Given the description of an element on the screen output the (x, y) to click on. 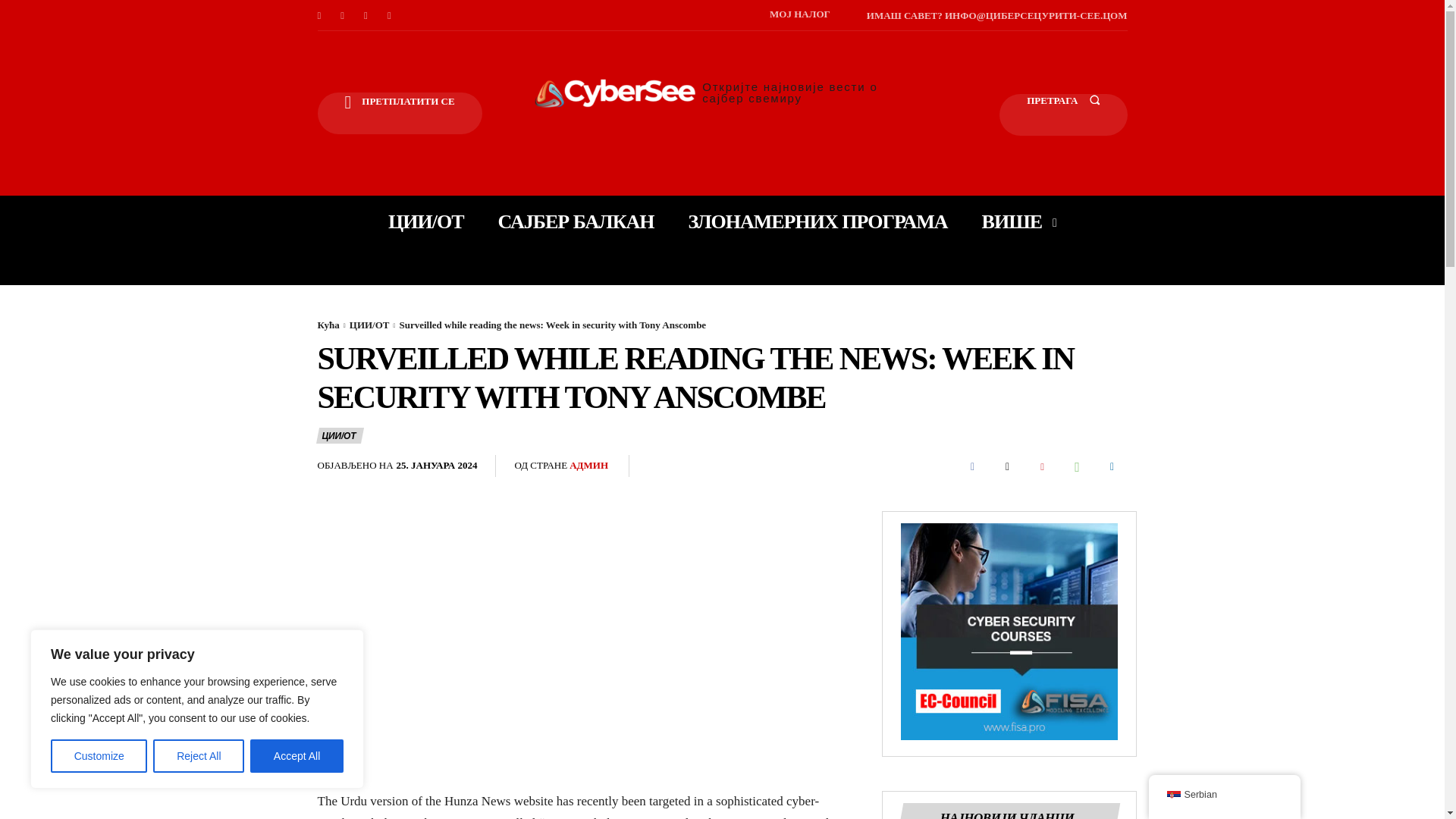
Customize (98, 756)
Reject All (198, 756)
Accept All (296, 756)
